Given the description of an element on the screen output the (x, y) to click on. 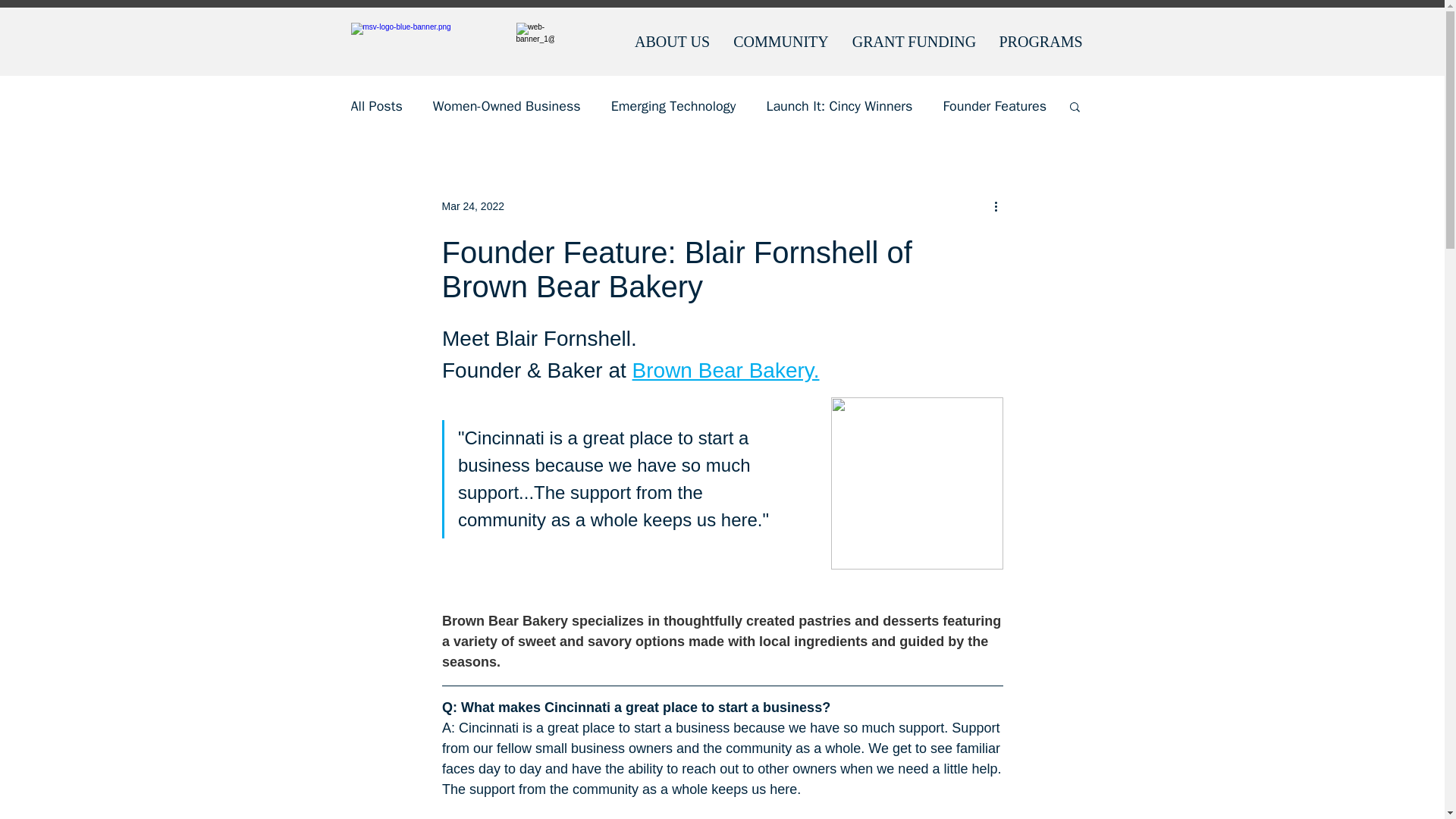
Founder Features (994, 106)
ABOUT US (672, 41)
All Posts (375, 106)
Brown Bear Bakery. (724, 370)
Launch It: Cincy Winners (838, 106)
Women-Owned Business (506, 106)
Emerging Technology (673, 106)
GRANT FUNDING (913, 41)
Mar 24, 2022 (472, 205)
COMMUNITY (781, 41)
